Given the description of an element on the screen output the (x, y) to click on. 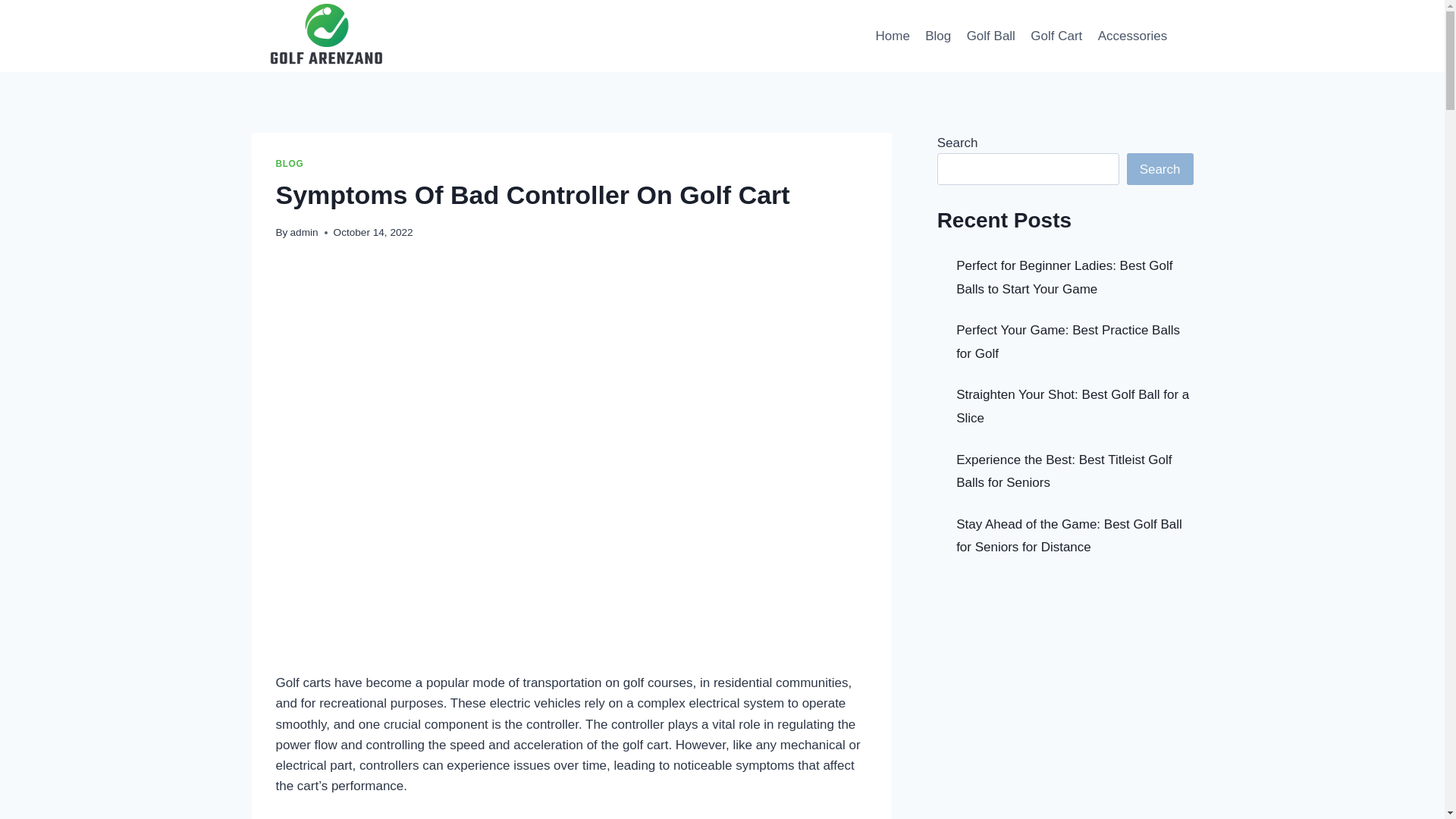
Golf Cart (1056, 35)
Home (892, 35)
admin (303, 232)
Accessories (1131, 35)
Blog (937, 35)
BLOG (290, 163)
Golf Ball (990, 35)
